Given the description of an element on the screen output the (x, y) to click on. 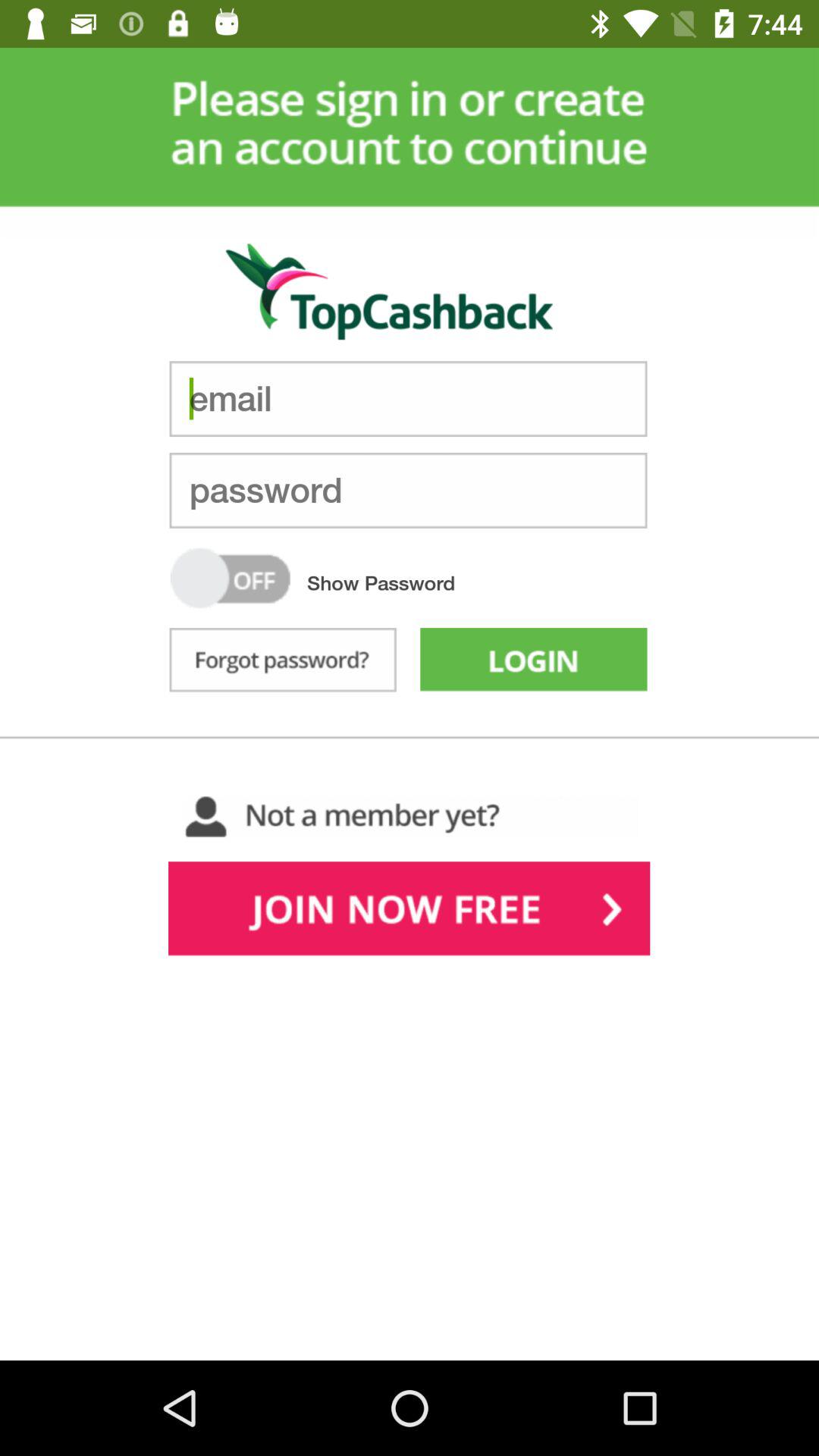
sign up button (409, 912)
